Given the description of an element on the screen output the (x, y) to click on. 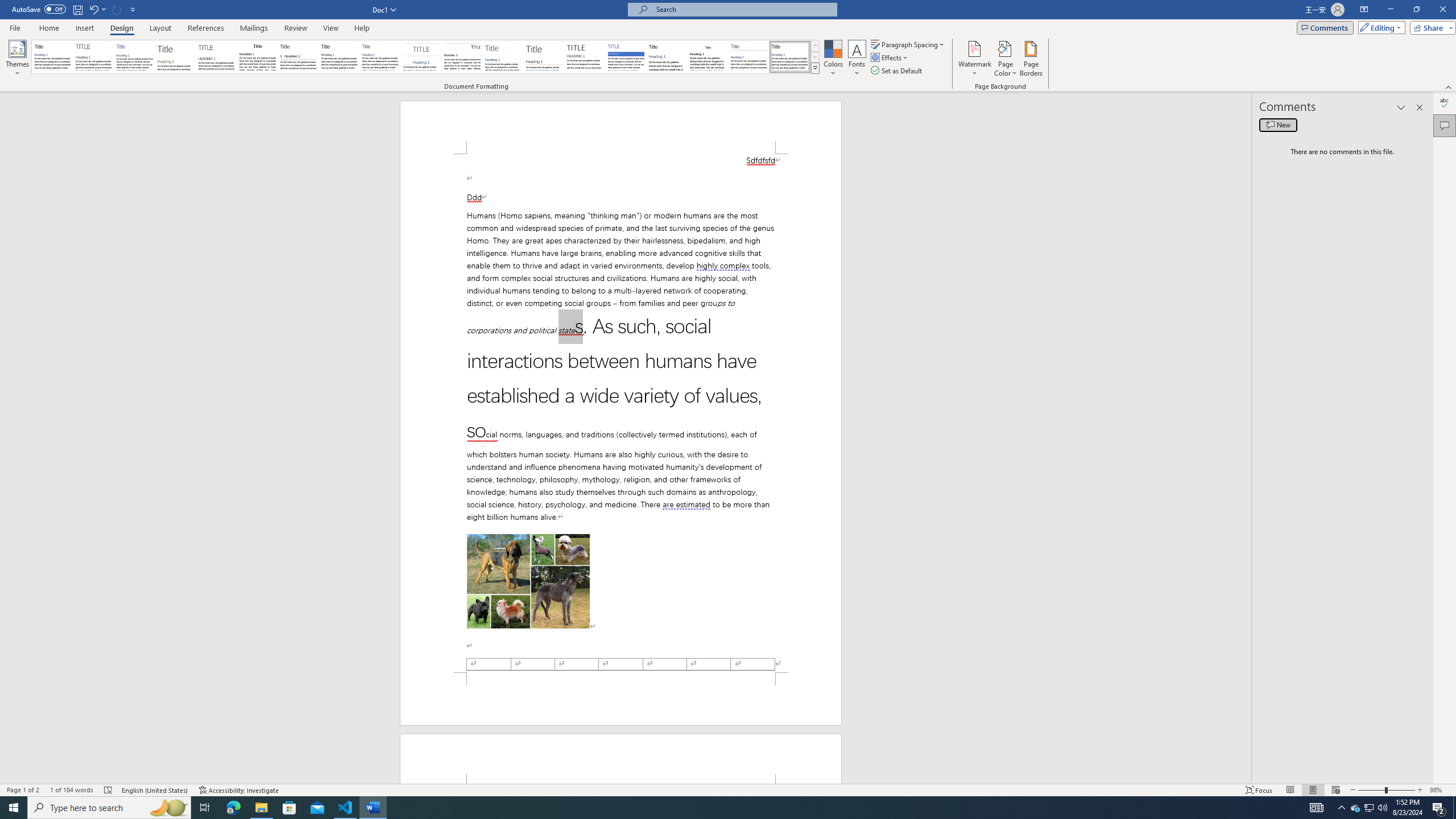
Basic (Elegant) (93, 56)
Colors (832, 58)
Class: MsoCommandBar (728, 789)
Undo Apply Quick Style Set (96, 9)
Word (666, 56)
Language English (United States) (154, 790)
Document (52, 56)
Header -Section 1- (620, 758)
Page Borders... (1031, 58)
Black & White (Word 2013) (338, 56)
Set as Default (897, 69)
